Given the description of an element on the screen output the (x, y) to click on. 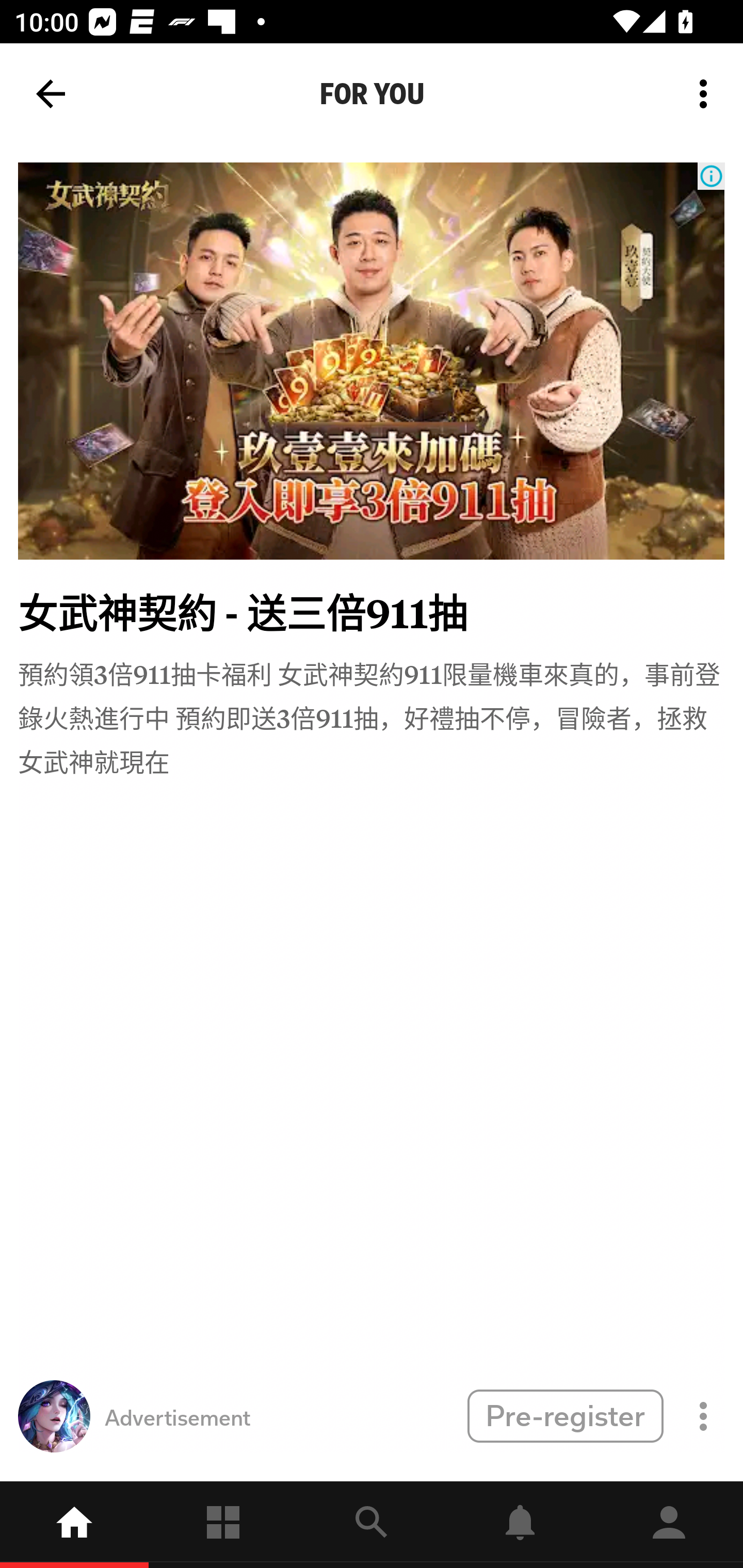
Back (50, 93)
FOR YOU (371, 93)
More options (706, 93)
Ad Choices Icon (711, 176)
Pre-register (565, 1415)
home (74, 1524)
Following (222, 1524)
explore (371, 1524)
Notifications (519, 1524)
Profile (668, 1524)
